Given the description of an element on the screen output the (x, y) to click on. 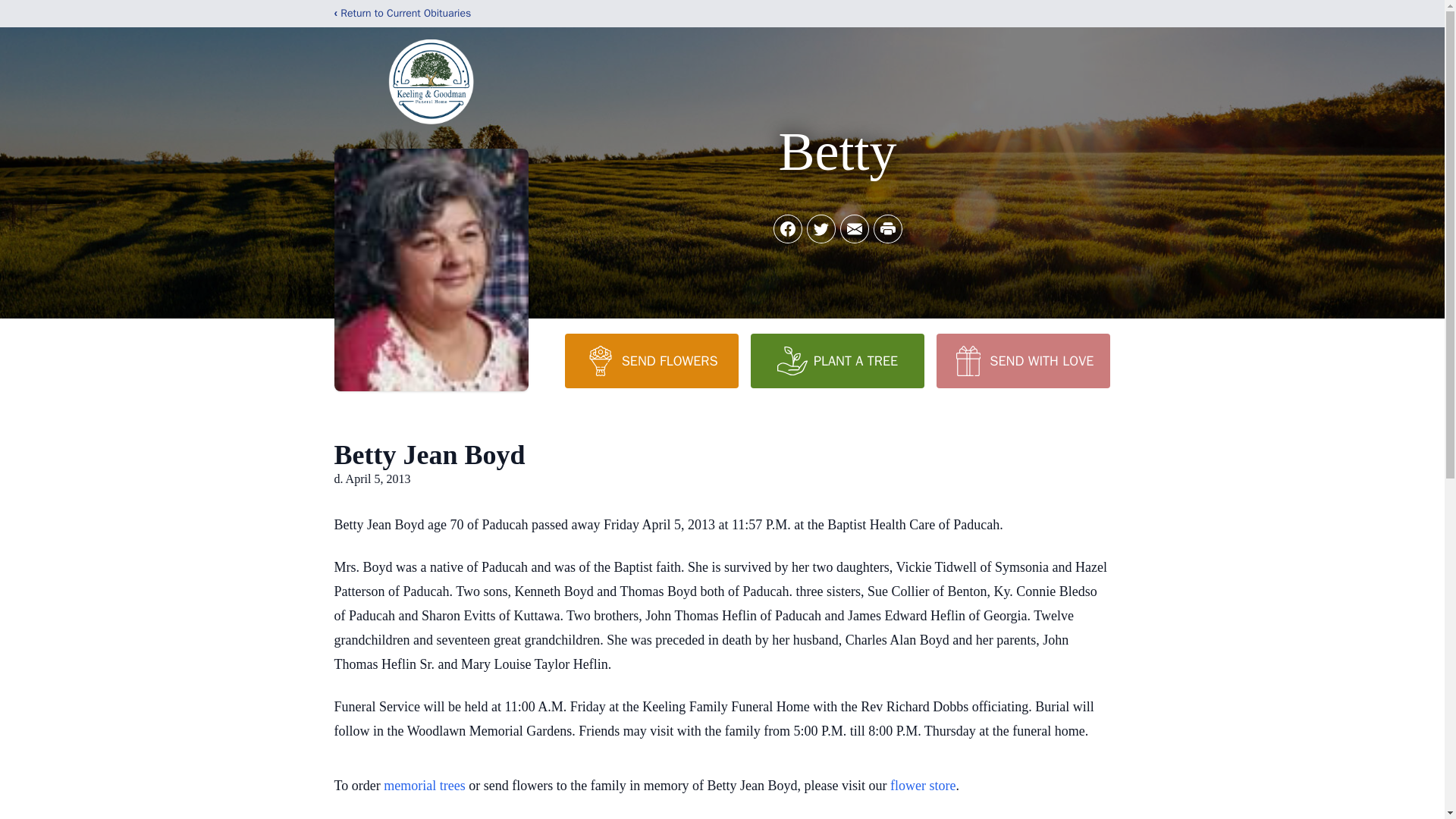
memorial trees (424, 785)
SEND FLOWERS (651, 360)
SEND WITH LOVE (1022, 360)
flower store (922, 785)
PLANT A TREE (837, 360)
